Given the description of an element on the screen output the (x, y) to click on. 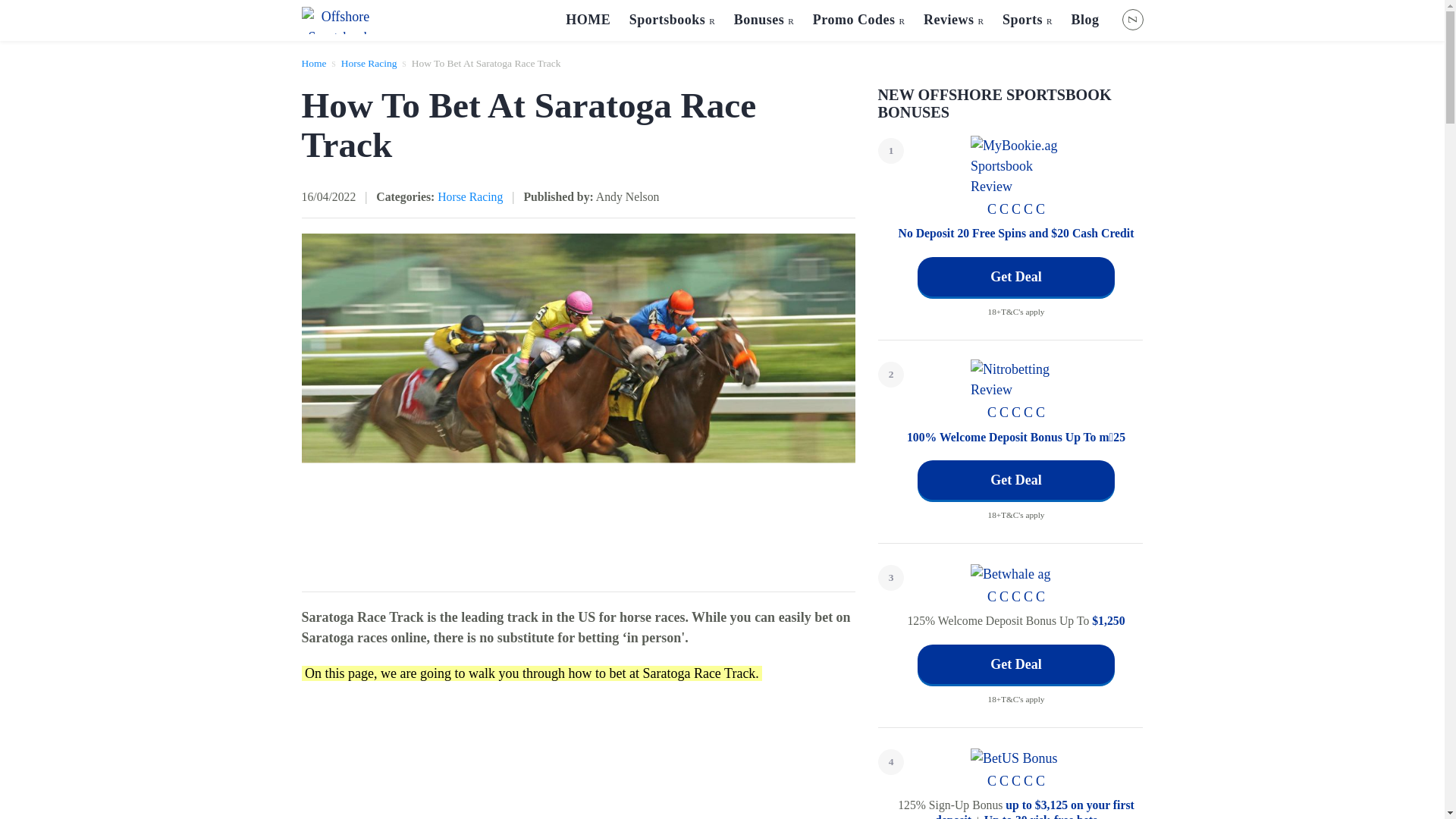
HOME (588, 19)
Inside Saratoga Race Course (578, 759)
Promo Codes (858, 20)
Horse Racing (368, 62)
Sportsbooks (672, 20)
Bonuses (763, 20)
How To Bet At Saratoga Race Track (486, 62)
Home (313, 62)
